Given the description of an element on the screen output the (x, y) to click on. 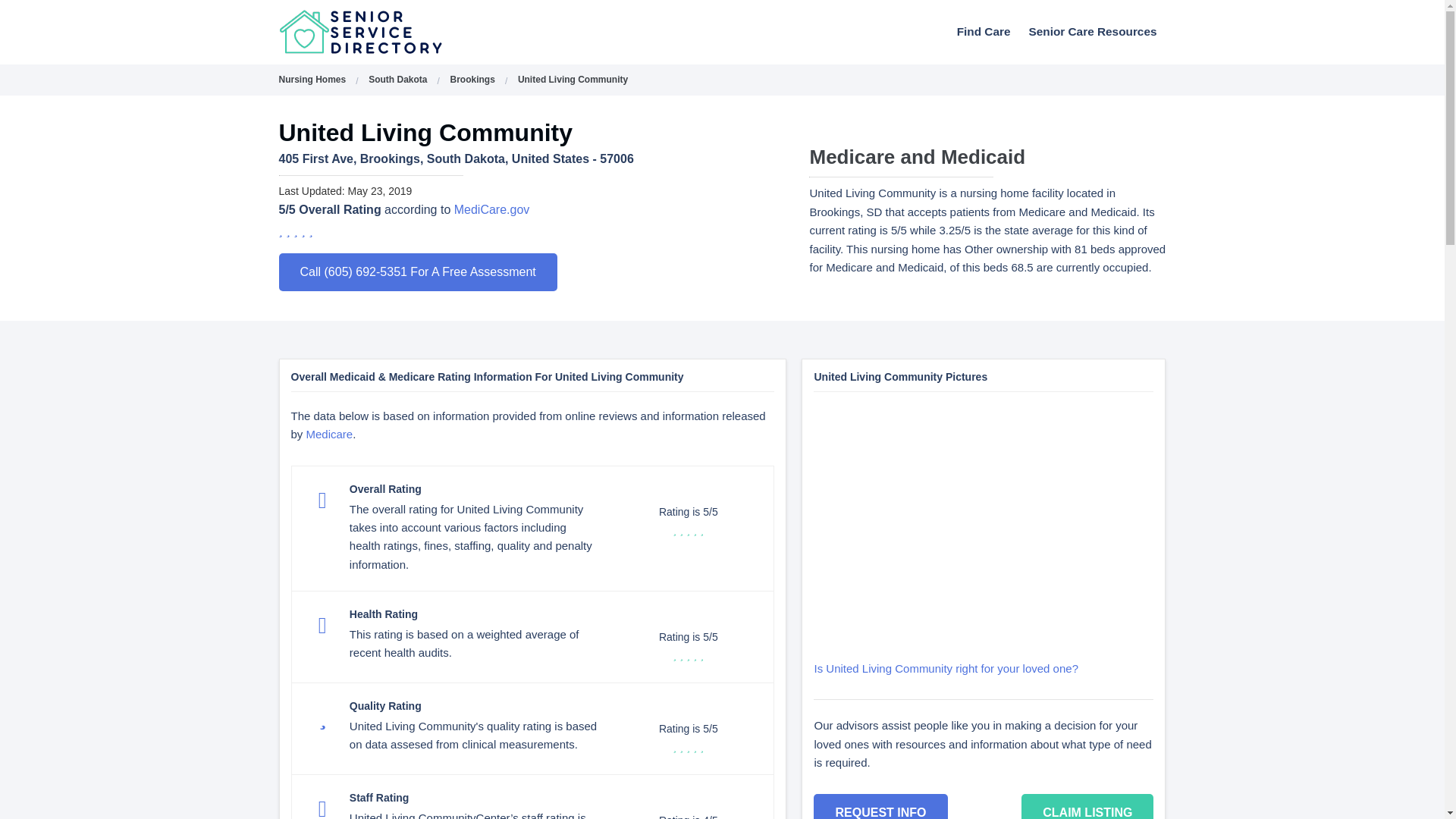
Is United Living Community right for your loved one? (945, 667)
Find Care (983, 31)
Medicare (329, 433)
REQUEST INFO (880, 806)
Senior Service Directory (400, 31)
MediCare.gov (491, 209)
United Living Community (572, 80)
Senior Care Resources (1092, 31)
Nursing Homes (312, 80)
CLAIM LISTING (1087, 806)
South Dakota (397, 80)
Brookings (472, 80)
